Given the description of an element on the screen output the (x, y) to click on. 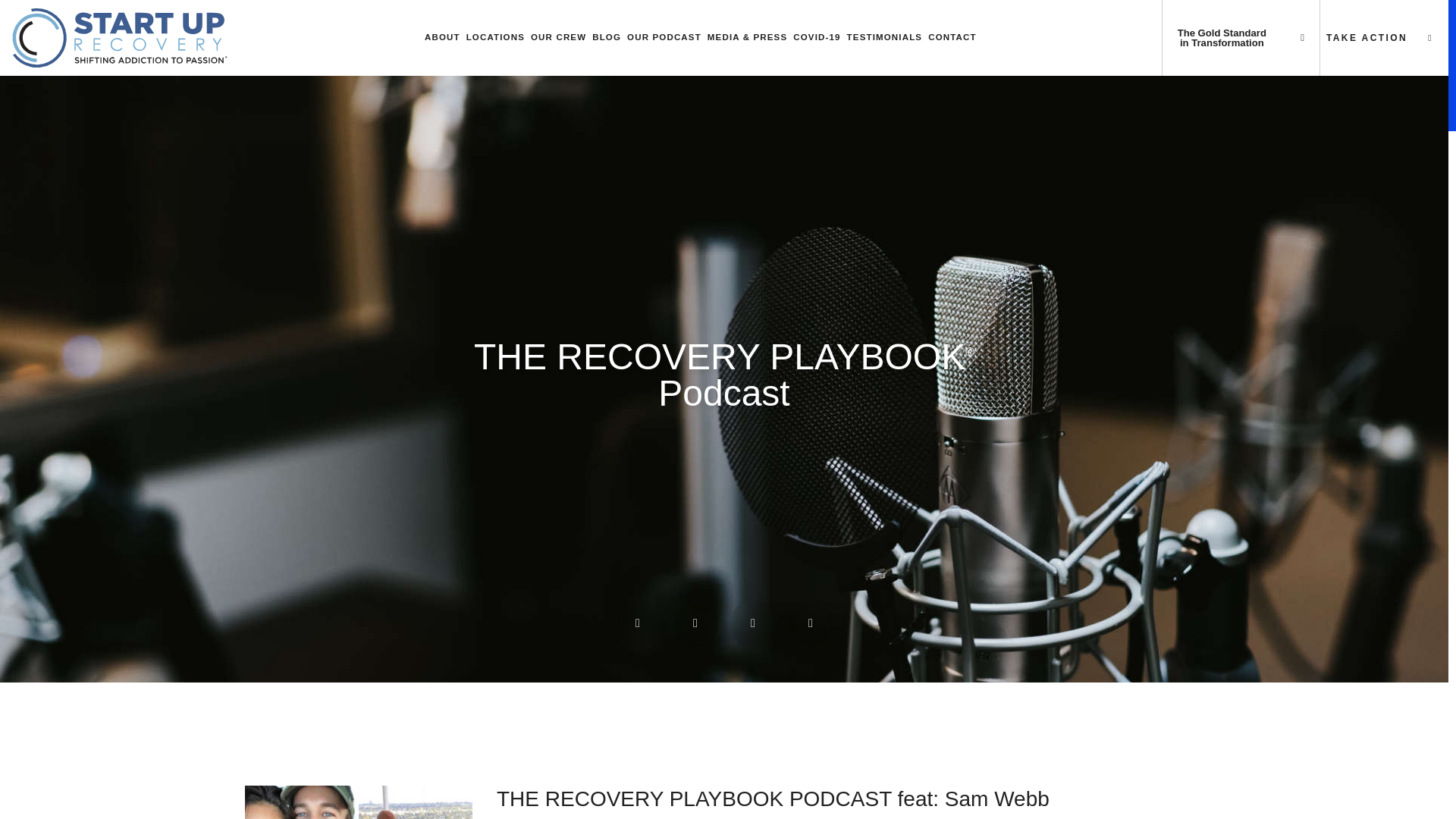
COVID-19 (816, 37)
BLOG (606, 37)
LOCATIONS (494, 37)
TESTIMONIALS (885, 37)
CONTACT (951, 37)
OUR PODCAST (664, 37)
ABOUT (442, 37)
OUR CREW (558, 37)
